Given the description of an element on the screen output the (x, y) to click on. 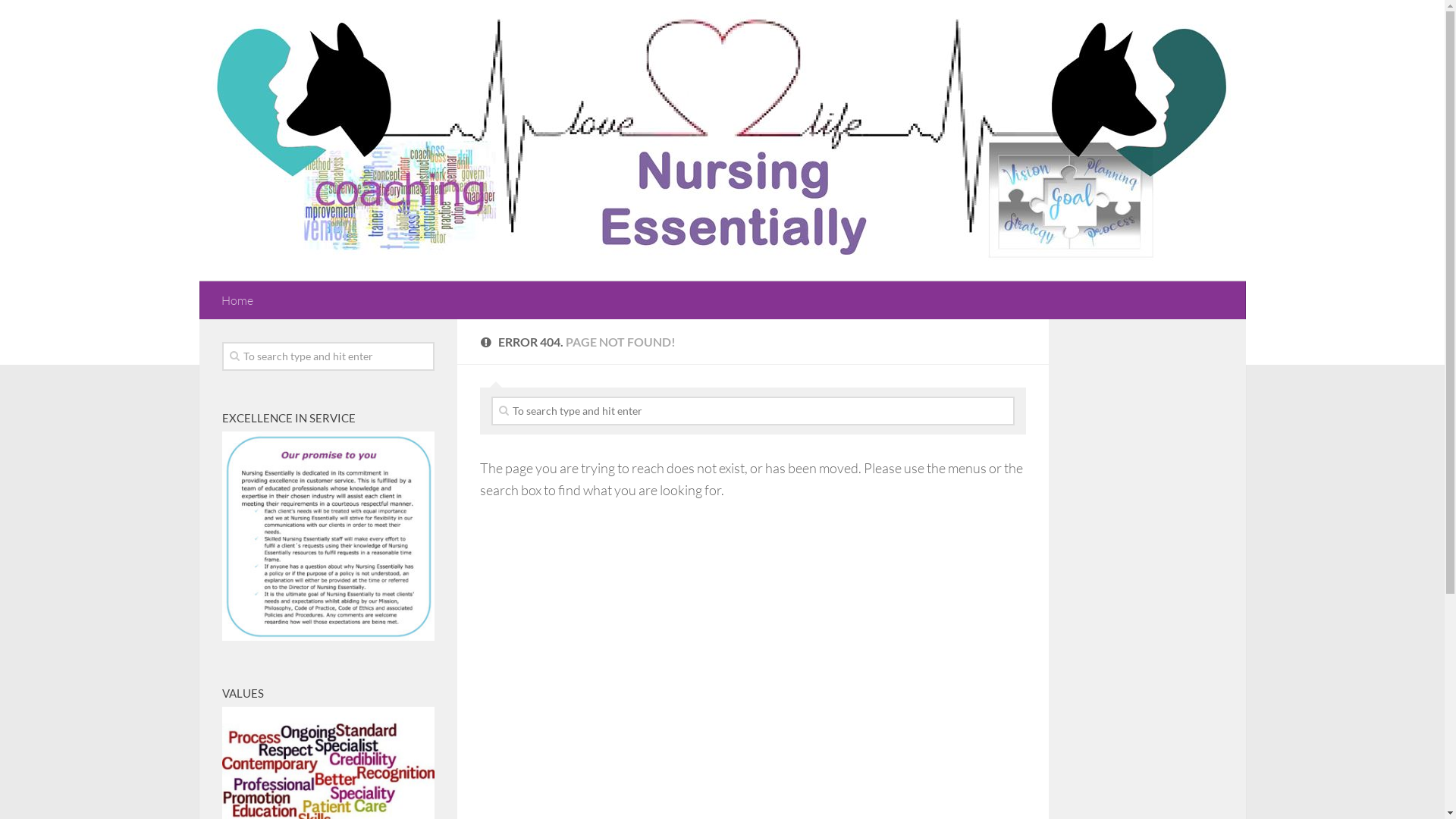
Home Element type: text (236, 300)
